Given the description of an element on the screen output the (x, y) to click on. 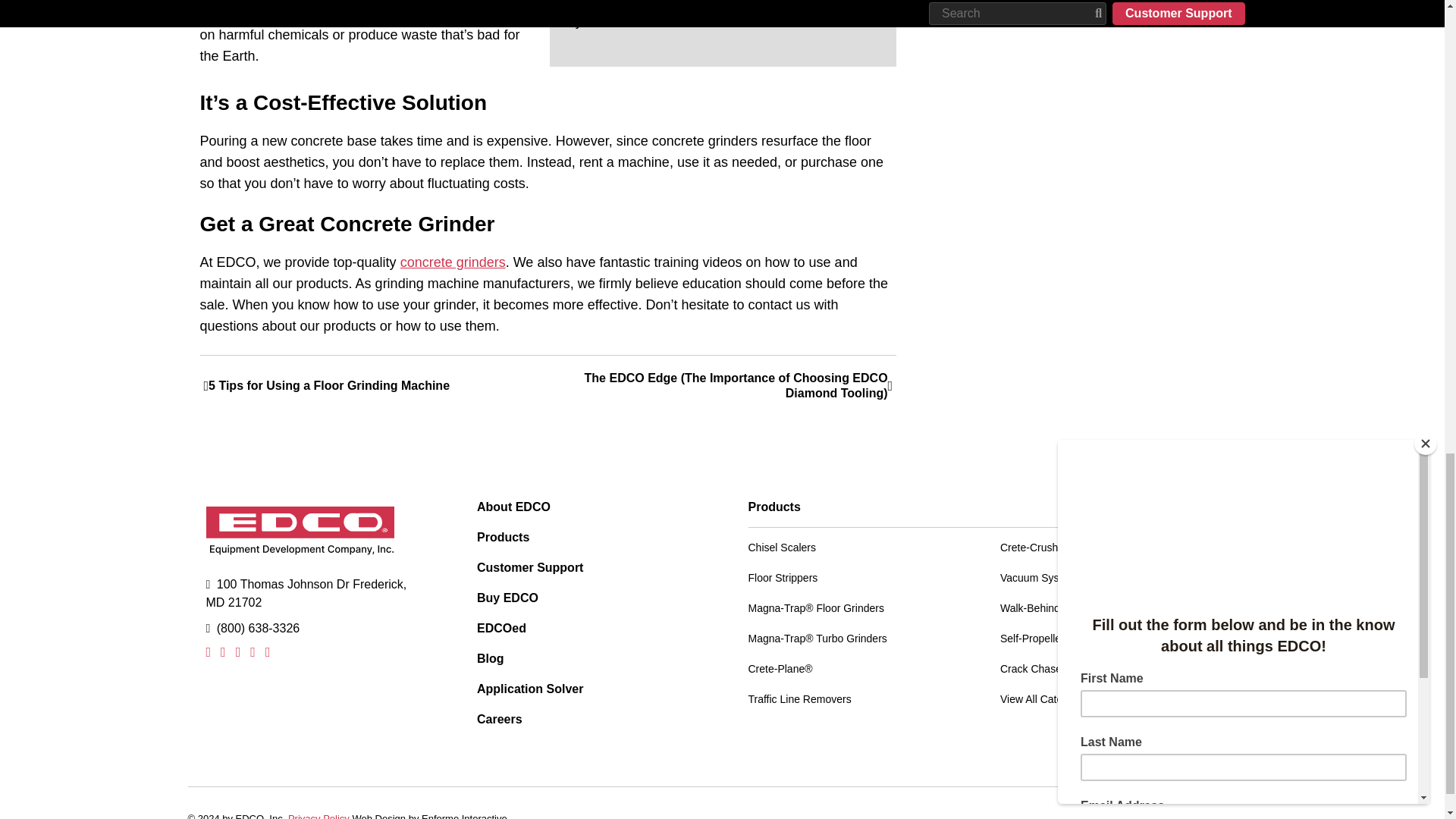
Products (587, 537)
Buy EDCO (587, 598)
About EDCO (587, 507)
concrete grinders (452, 262)
5 Tips for Using a Floor Grinding Machine (376, 385)
EDCOed (587, 628)
industrial dust vacuum (717, 3)
Application Solver (587, 688)
Customer Support (587, 567)
Blog (587, 658)
